Given the description of an element on the screen output the (x, y) to click on. 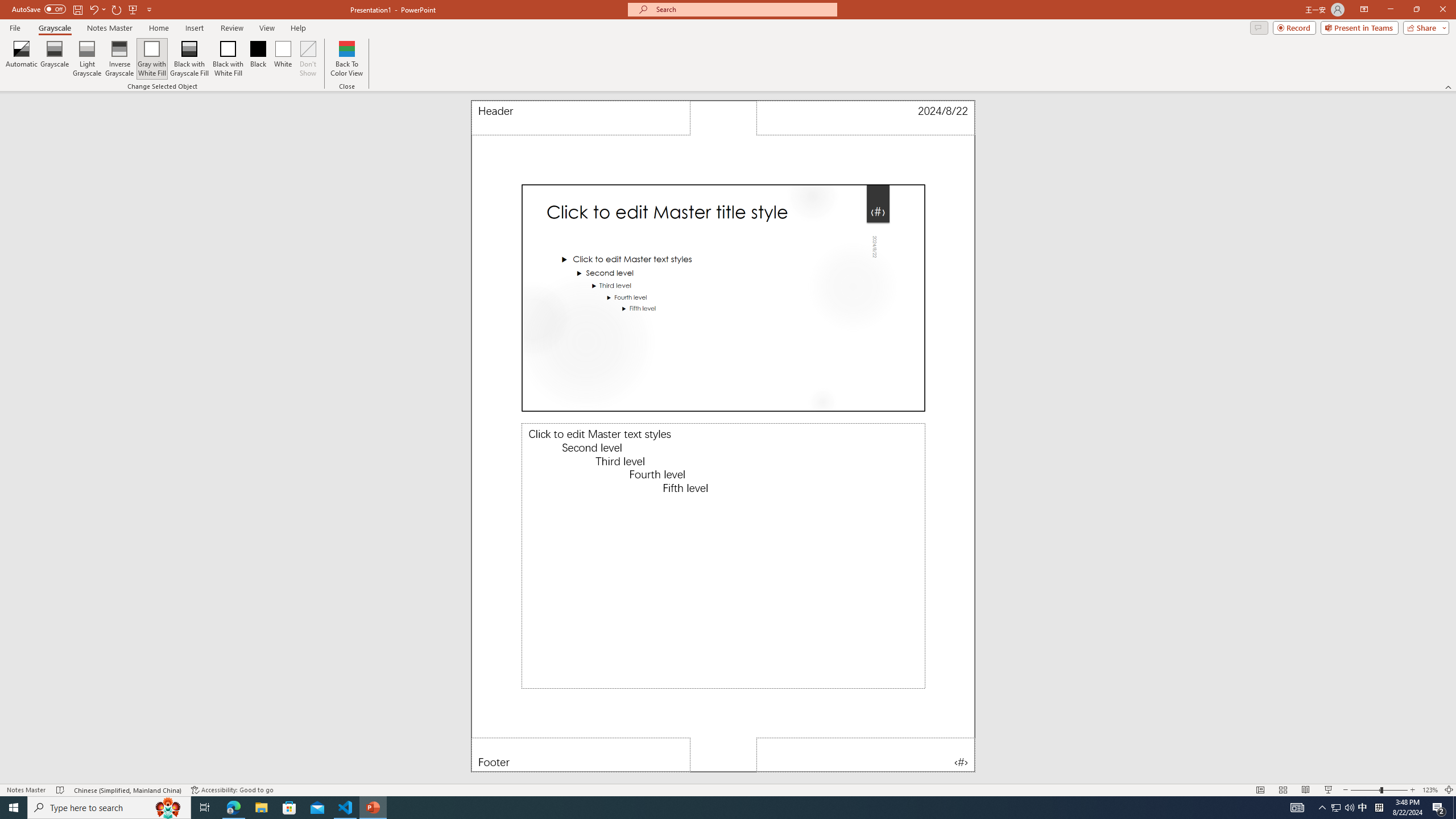
Gray with White Fill (151, 58)
Accessibility Checker Accessibility: Good to go (232, 790)
Grayscale (54, 58)
Black with Grayscale Fill (189, 58)
